Given the description of an element on the screen output the (x, y) to click on. 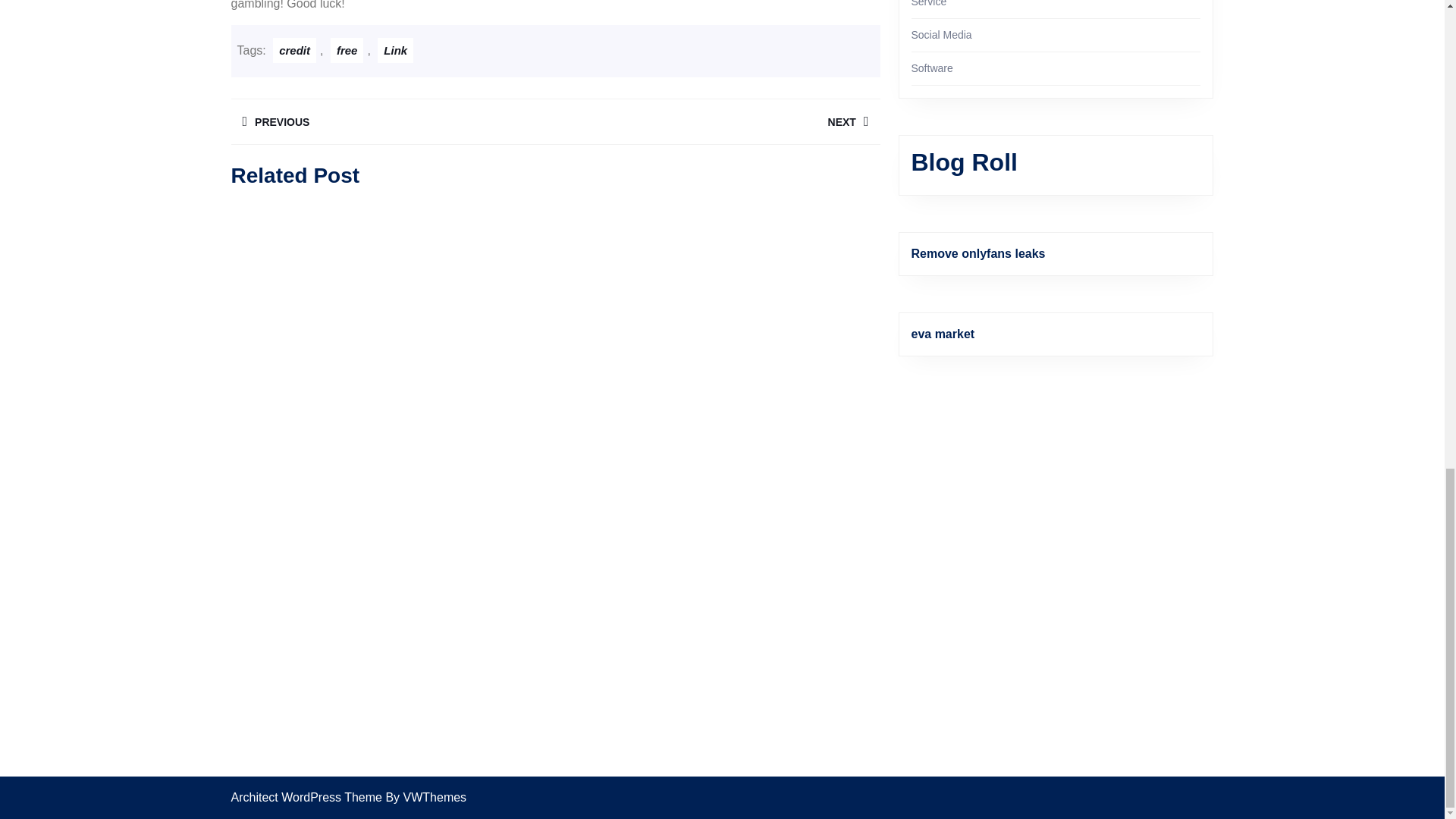
Link (395, 50)
free (392, 121)
credit (716, 121)
